Given the description of an element on the screen output the (x, y) to click on. 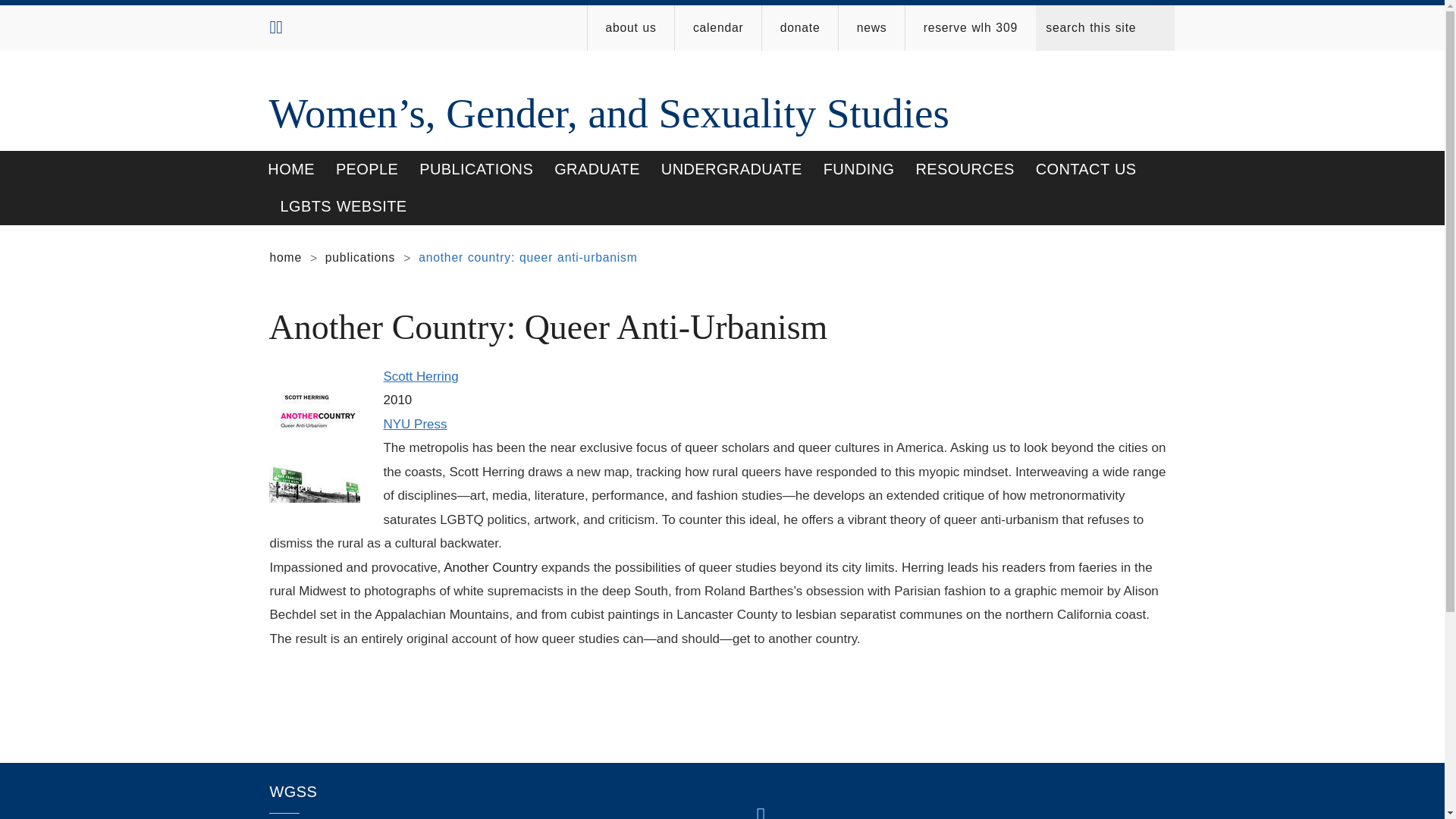
reserve wlh 309 (970, 27)
PUBLICATIONS (476, 169)
UNDERGRADUATE (731, 169)
publications (359, 256)
FUNDING (858, 169)
Yale (760, 811)
NYU Press (414, 423)
GRADUATE (596, 169)
donate (799, 27)
CONTACT US (1086, 169)
home (285, 256)
Scott Herring (420, 376)
calendar (718, 27)
Skip to main content (586, 4)
about us (631, 27)
